Given the description of an element on the screen output the (x, y) to click on. 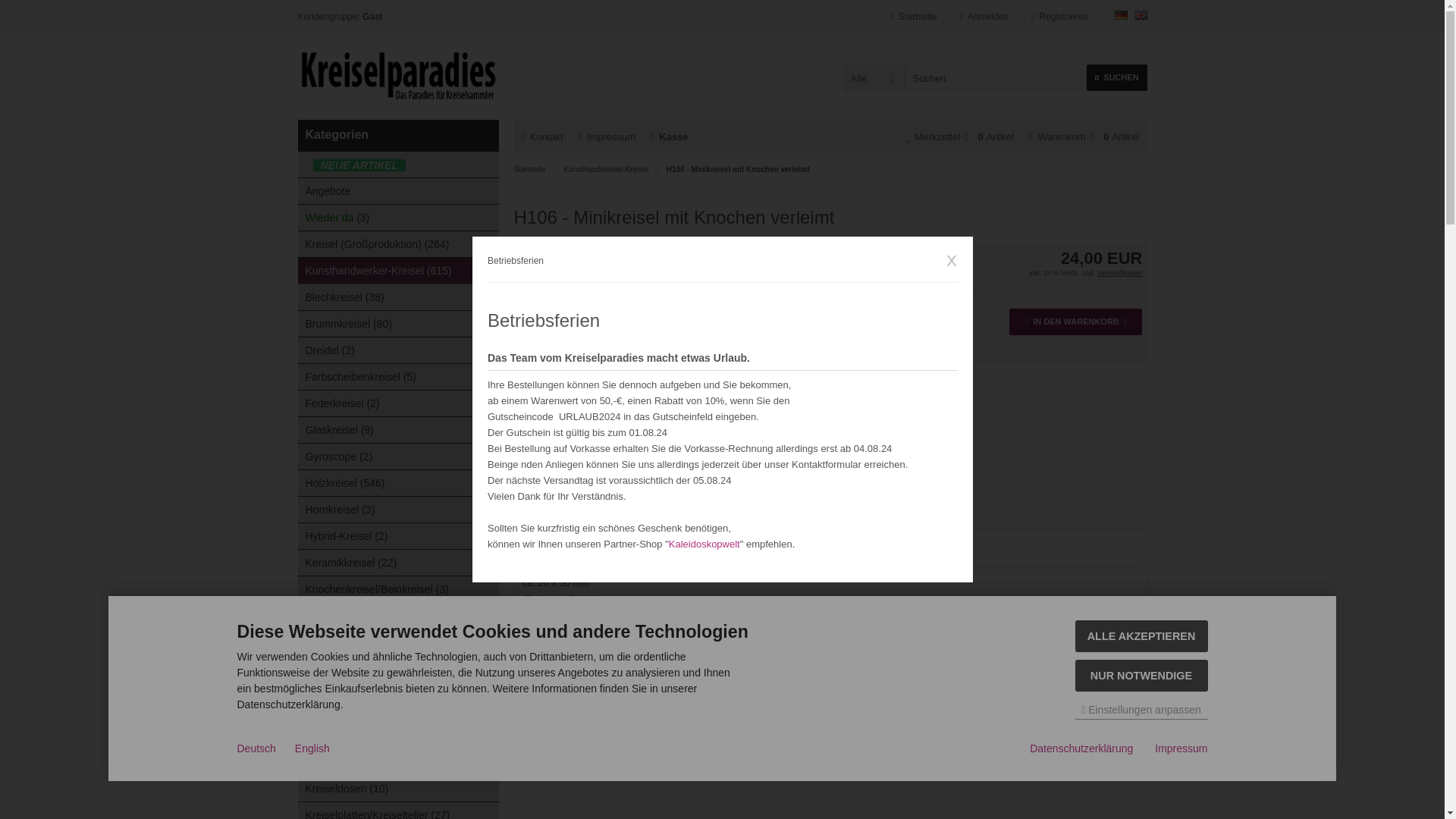
Anmelden (984, 16)
English (1140, 14)
Kasse (668, 136)
Information (791, 254)
Impressum (606, 136)
1 - 5 Werktage (791, 254)
Information (1119, 272)
Artikeldatenblatt drucken (812, 337)
Kunsthandwerker-Kreisel (605, 169)
Registrieren (1058, 16)
H106 - Minikreisel mit Knochen verleimt (603, 334)
Startseite (529, 169)
Rezension schreiben (812, 359)
Startseite (914, 16)
Auf den Merkzettel (831, 381)
